Given the description of an element on the screen output the (x, y) to click on. 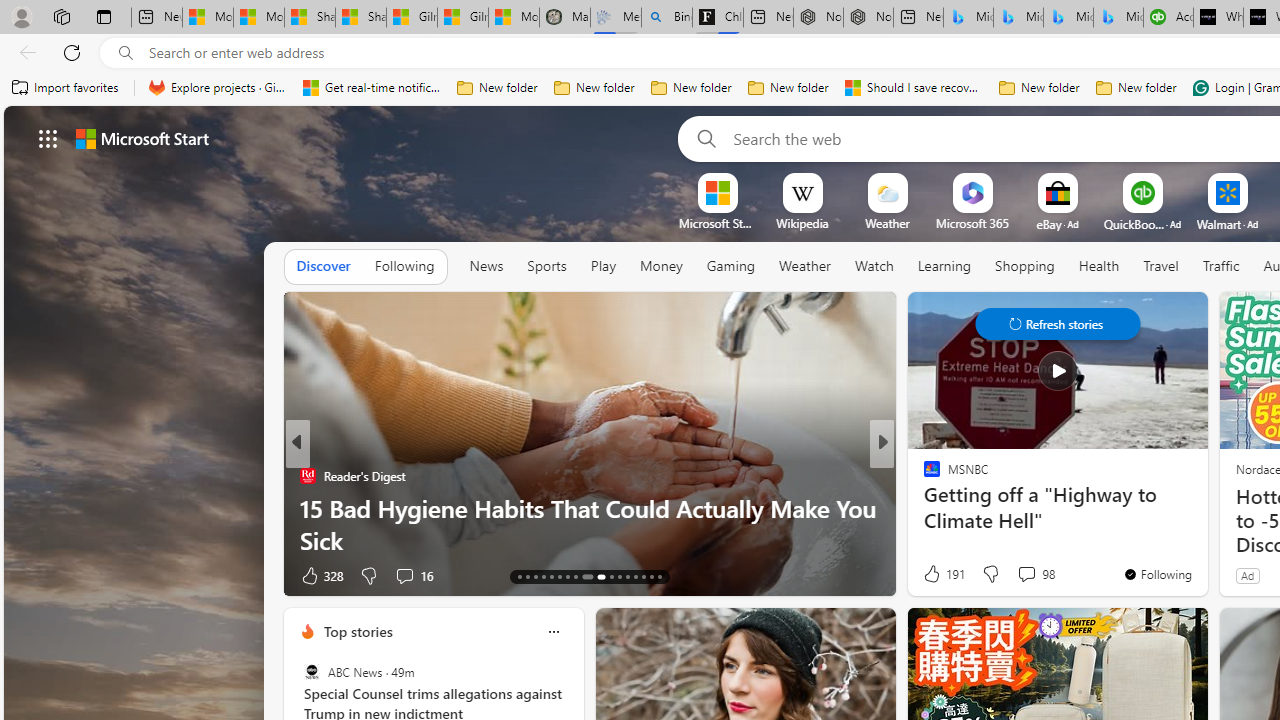
Wikipedia (802, 223)
AutomationID: tab-19 (567, 576)
328 Like (320, 574)
The Why Files (923, 475)
Class: control (1057, 323)
Money (661, 267)
Health (1098, 267)
Weather (804, 265)
AutomationID: tab-26 (635, 576)
Dislike (989, 574)
View comments 4 Comment (1019, 574)
More options (553, 631)
